Given the description of an element on the screen output the (x, y) to click on. 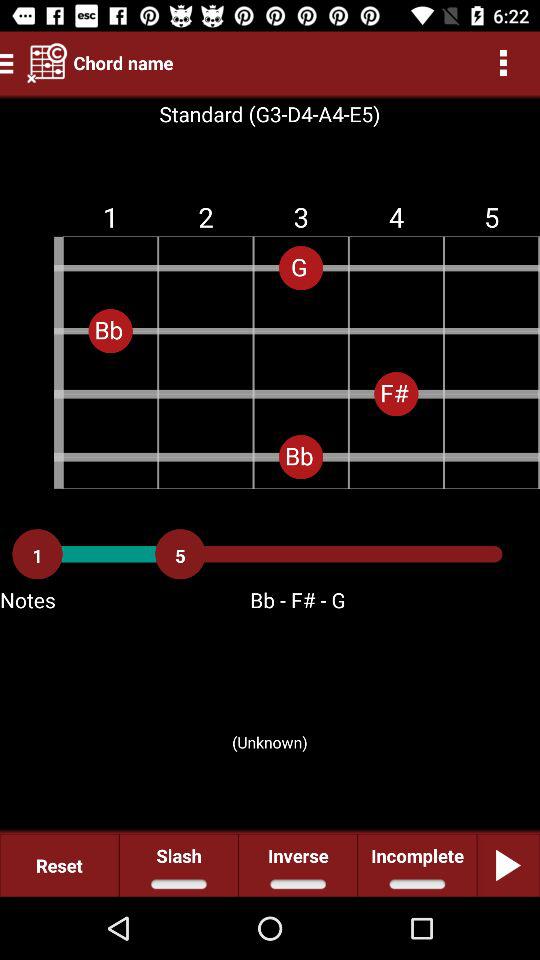
turn on standard g3 d4 icon (269, 113)
